Given the description of an element on the screen output the (x, y) to click on. 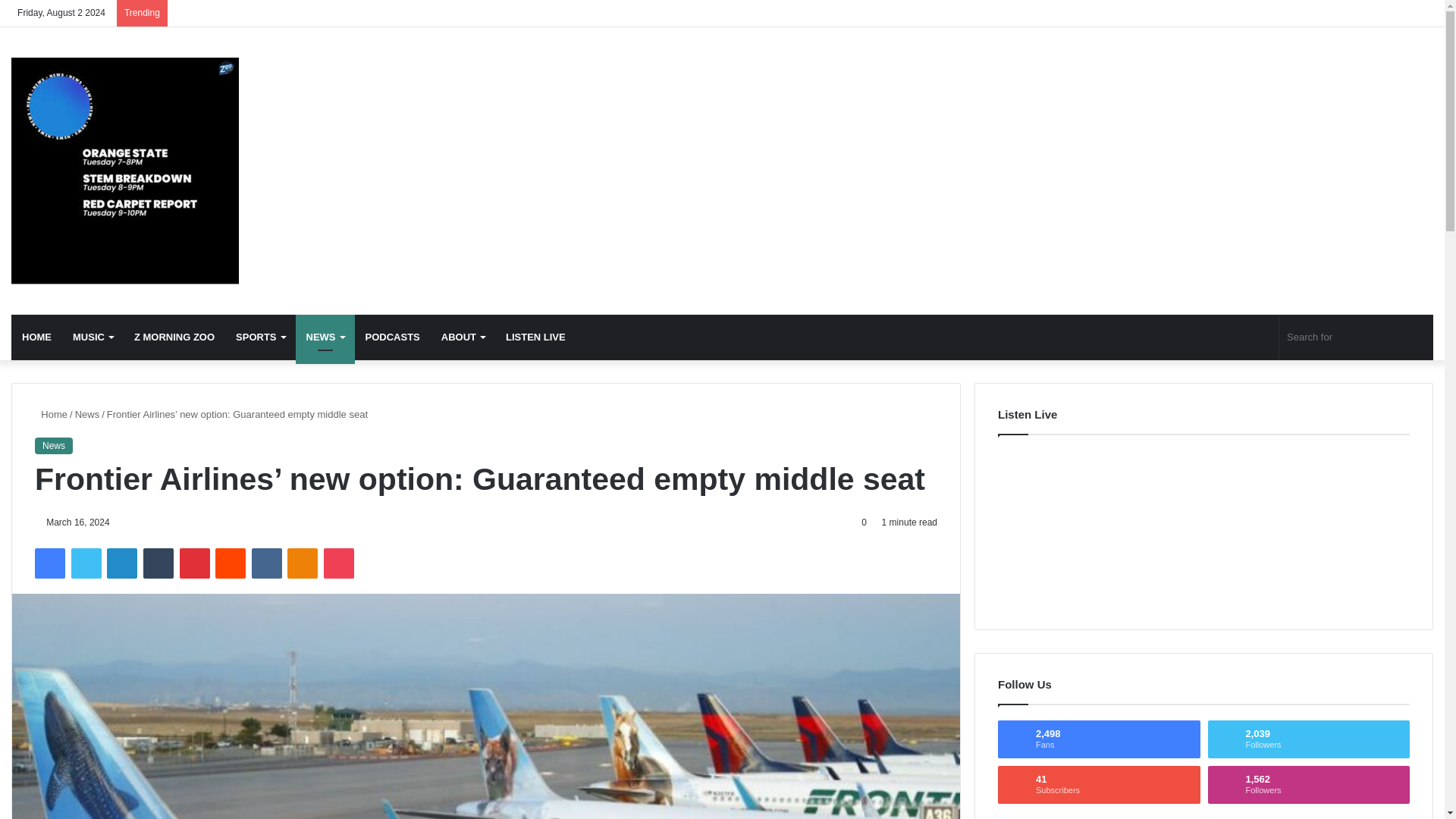
Twitter (86, 562)
Reddit (230, 562)
Pinterest (194, 562)
NEWS (325, 337)
Pocket (338, 562)
LinkedIn (121, 562)
News (124, 170)
HOME (36, 337)
SPORTS (260, 337)
Facebook (49, 562)
MUSIC (92, 337)
Z MORNING ZOO (174, 337)
Odnoklassniki (301, 562)
Tumblr (157, 562)
Search for (1355, 337)
